Given the description of an element on the screen output the (x, y) to click on. 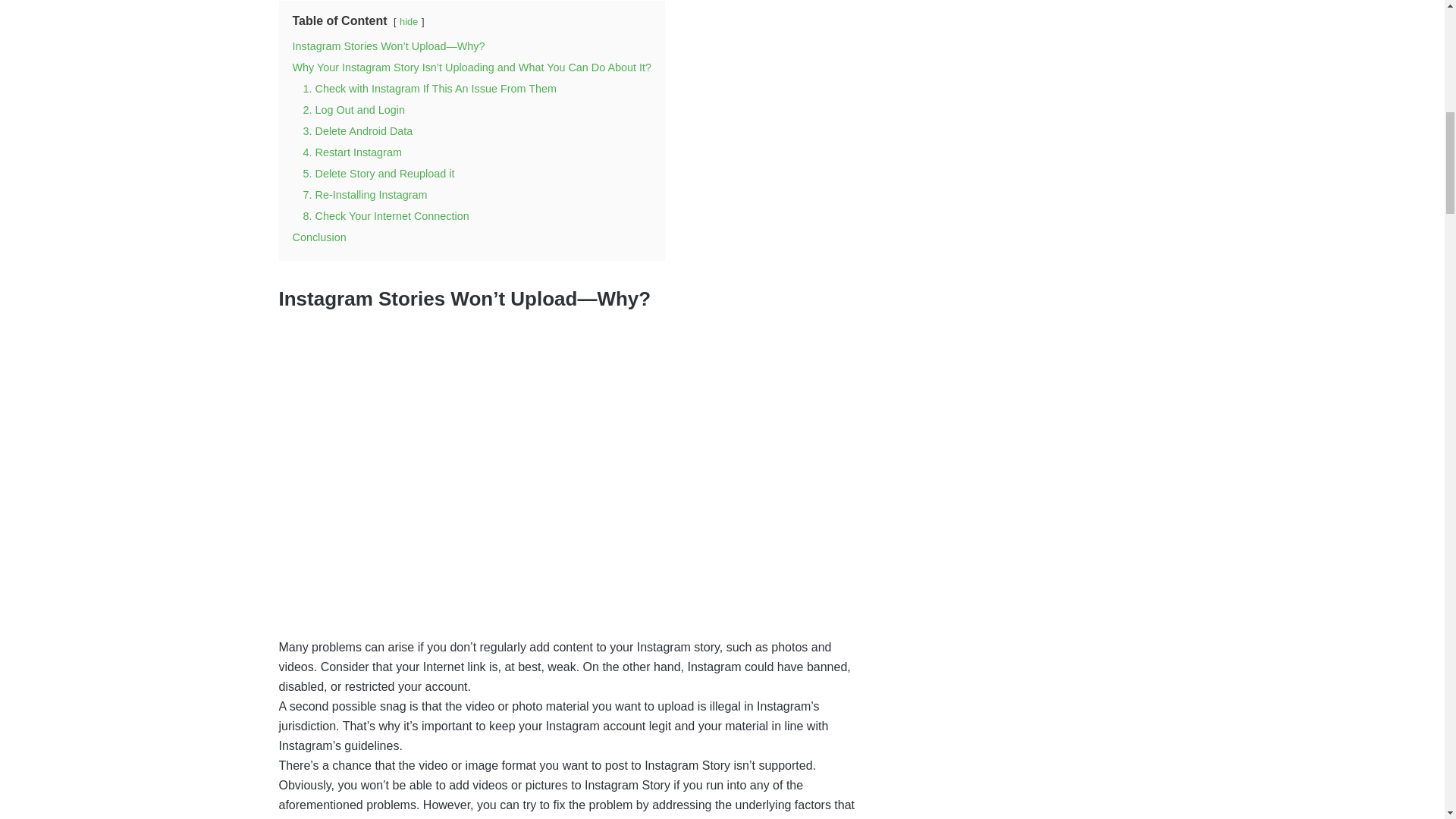
7. Re-Installing Instagram (365, 194)
5. Delete Story and Reupload it (378, 173)
3. Delete Android Data (357, 131)
2. Log Out and Login (353, 110)
1. Check with Instagram If This An Issue From Them (429, 88)
4. Restart Instagram (351, 152)
hide (407, 21)
Conclusion (319, 236)
8. Check Your Internet Connection (385, 215)
